Given the description of an element on the screen output the (x, y) to click on. 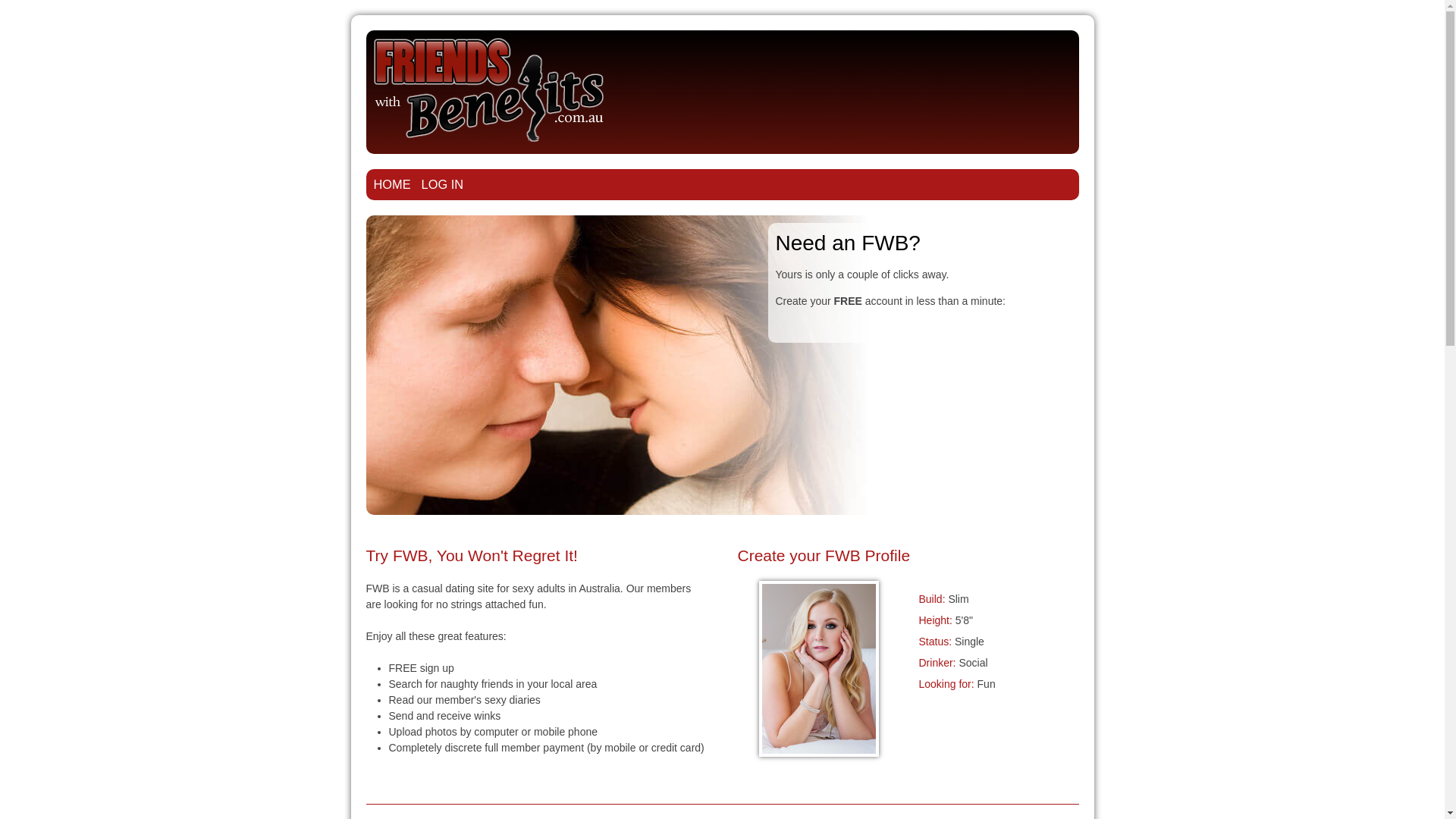
LOG IN Element type: text (442, 184)
Jump to navigation Element type: text (722, 17)
HOME Element type: text (391, 184)
